Given the description of an element on the screen output the (x, y) to click on. 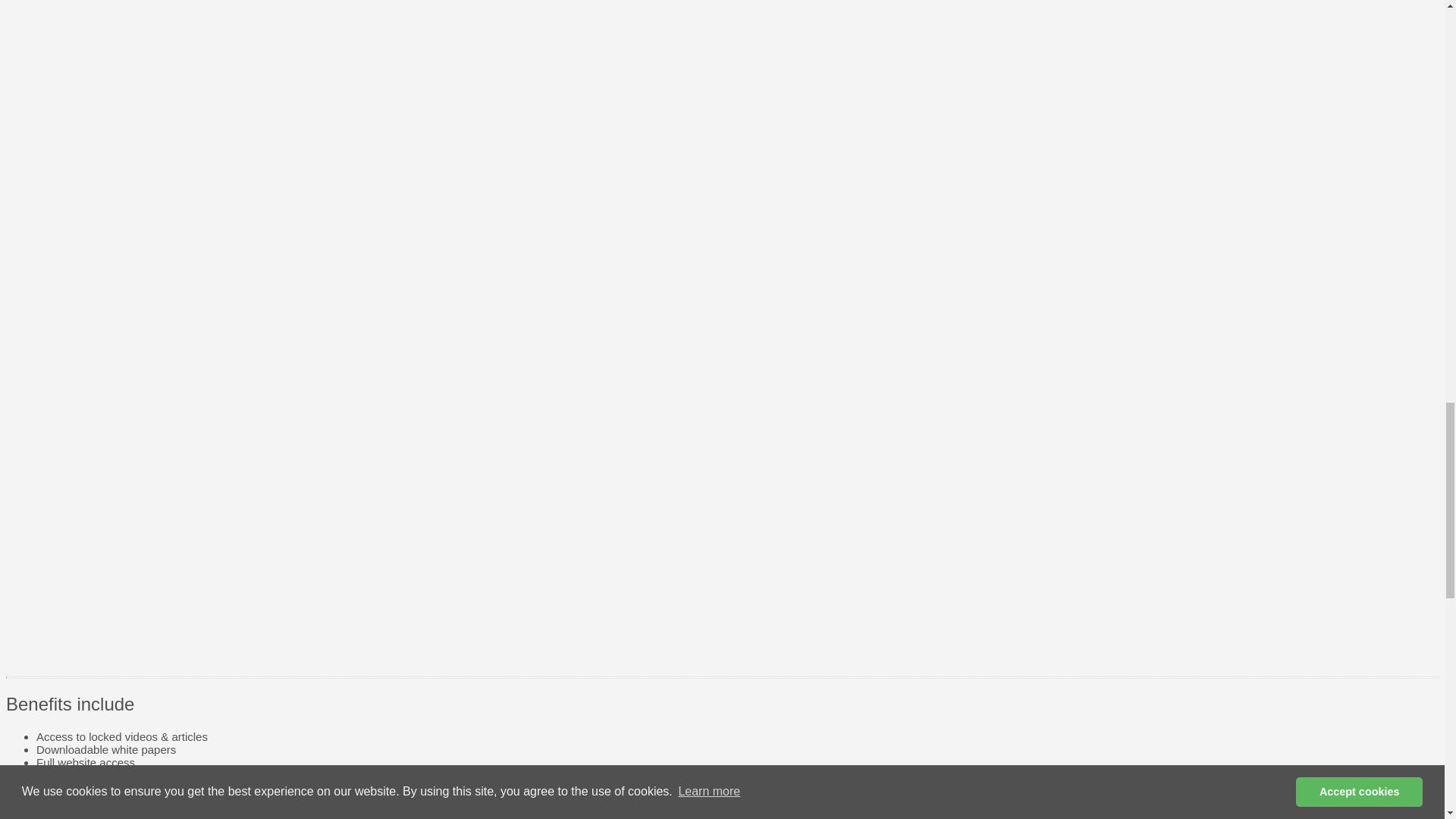
3rd party ad content (774, 18)
3rd party ad content (774, 357)
3rd party ad content (774, 149)
3rd party ad content (774, 565)
